Given the description of an element on the screen output the (x, y) to click on. 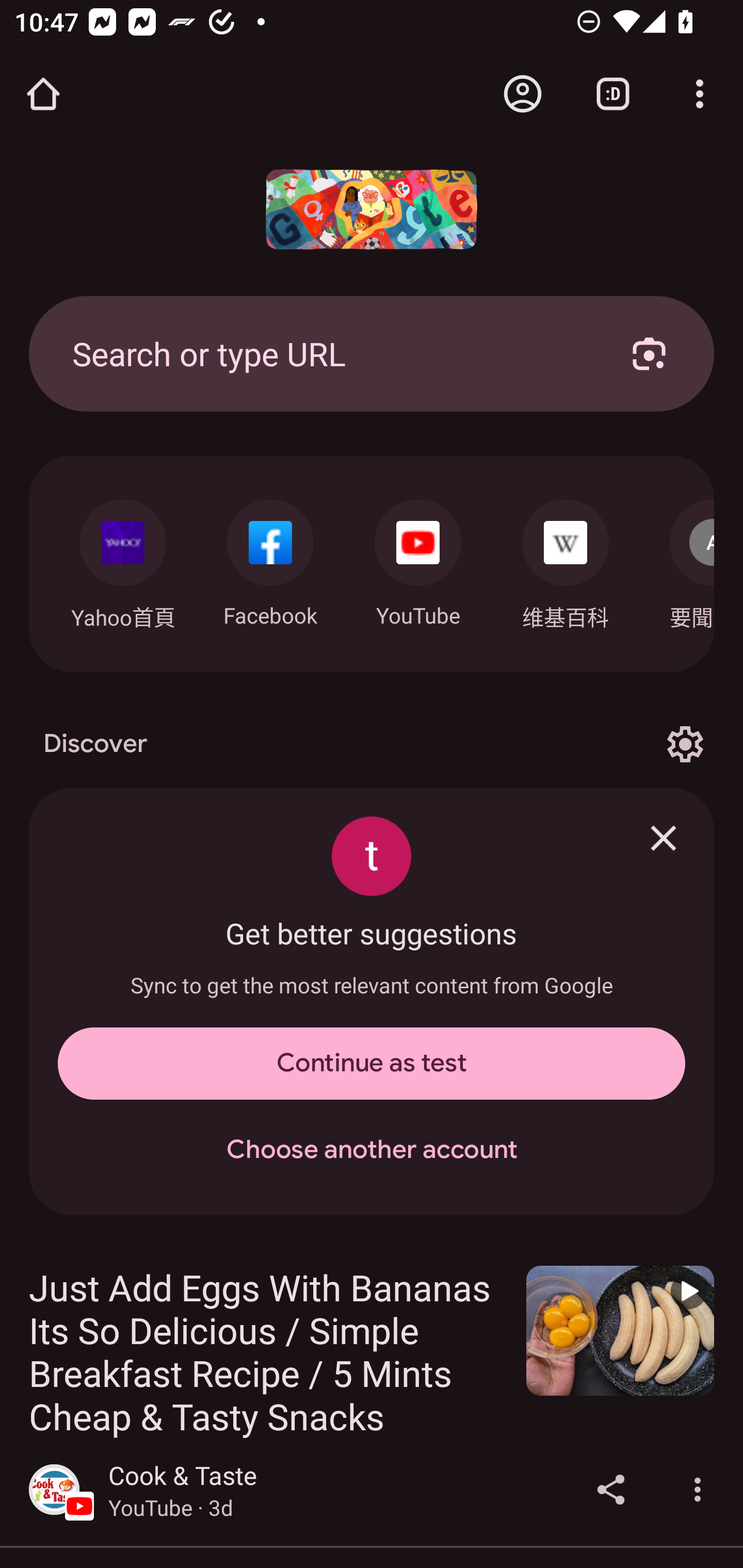
Open the home page (43, 93)
Switch or close tabs (612, 93)
Customize and control Google Chrome (699, 93)
Google doodle: 2024 年國際婦女節 (371, 209)
Search or type URL (327, 353)
Search with your camera using Google Lens (648, 353)
Navigate: Yahoo首頁: hk.mobi.yahoo.com Yahoo首頁 (122, 558)
Navigate: Facebook: m.facebook.com Facebook (270, 558)
Navigate: YouTube: m.youtube.com YouTube (417, 558)
Navigate: 维基百科: zh.m.wikipedia.org 维基百科 (565, 558)
Options for Discover (684, 743)
Close (663, 837)
Continue as test (371, 1063)
Choose another account (371, 1150)
